Given the description of an element on the screen output the (x, y) to click on. 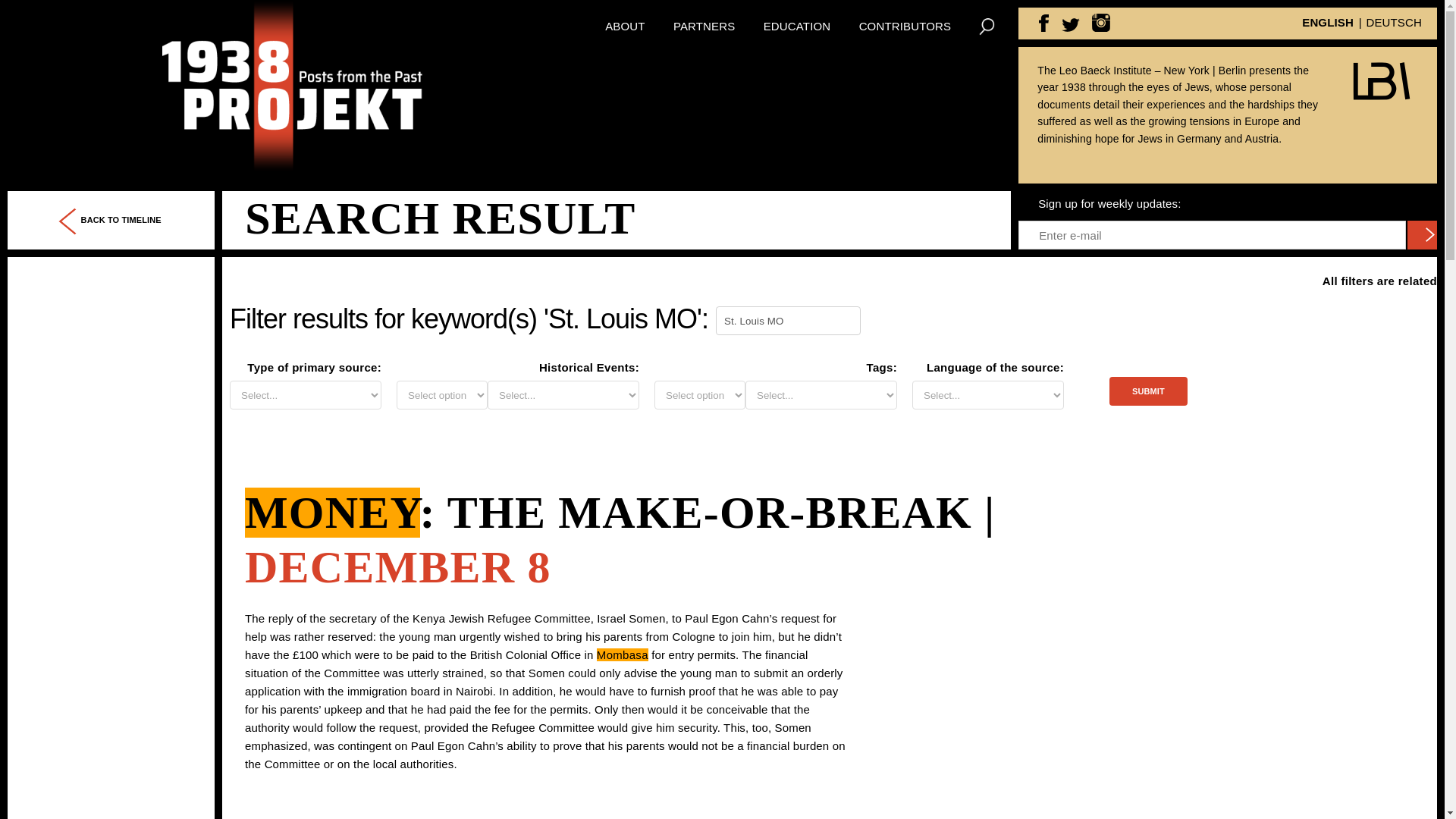
BACK TO TIMELINE (110, 219)
DEUTSCH (1393, 21)
ENGLISH (1327, 21)
St. Louis MO (788, 320)
Submit (1148, 390)
PARTNERS (703, 26)
ABOUT (625, 26)
EDUCATION (796, 26)
CONTRIBUTORS (905, 26)
